Given the description of an element on the screen output the (x, y) to click on. 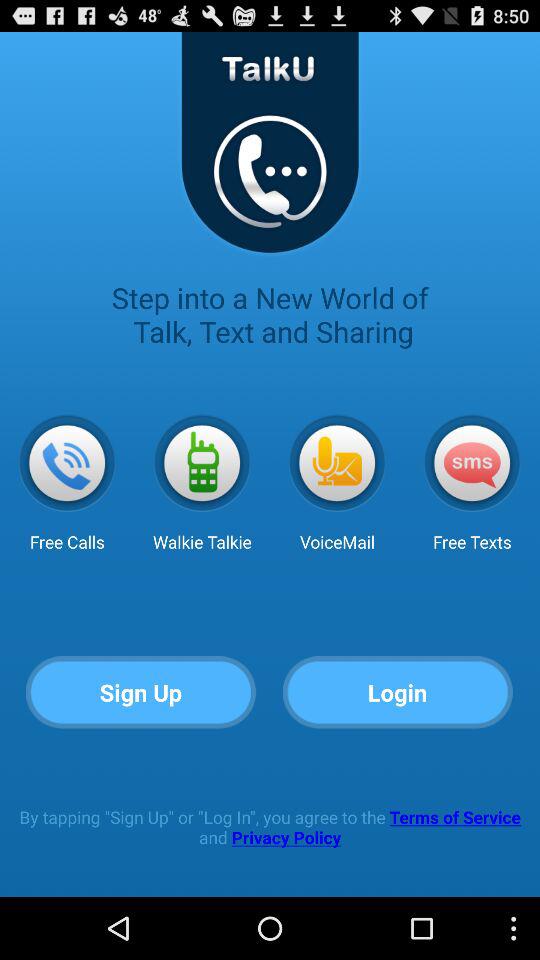
turn on the item to the right of sign up button (398, 692)
